Given the description of an element on the screen output the (x, y) to click on. 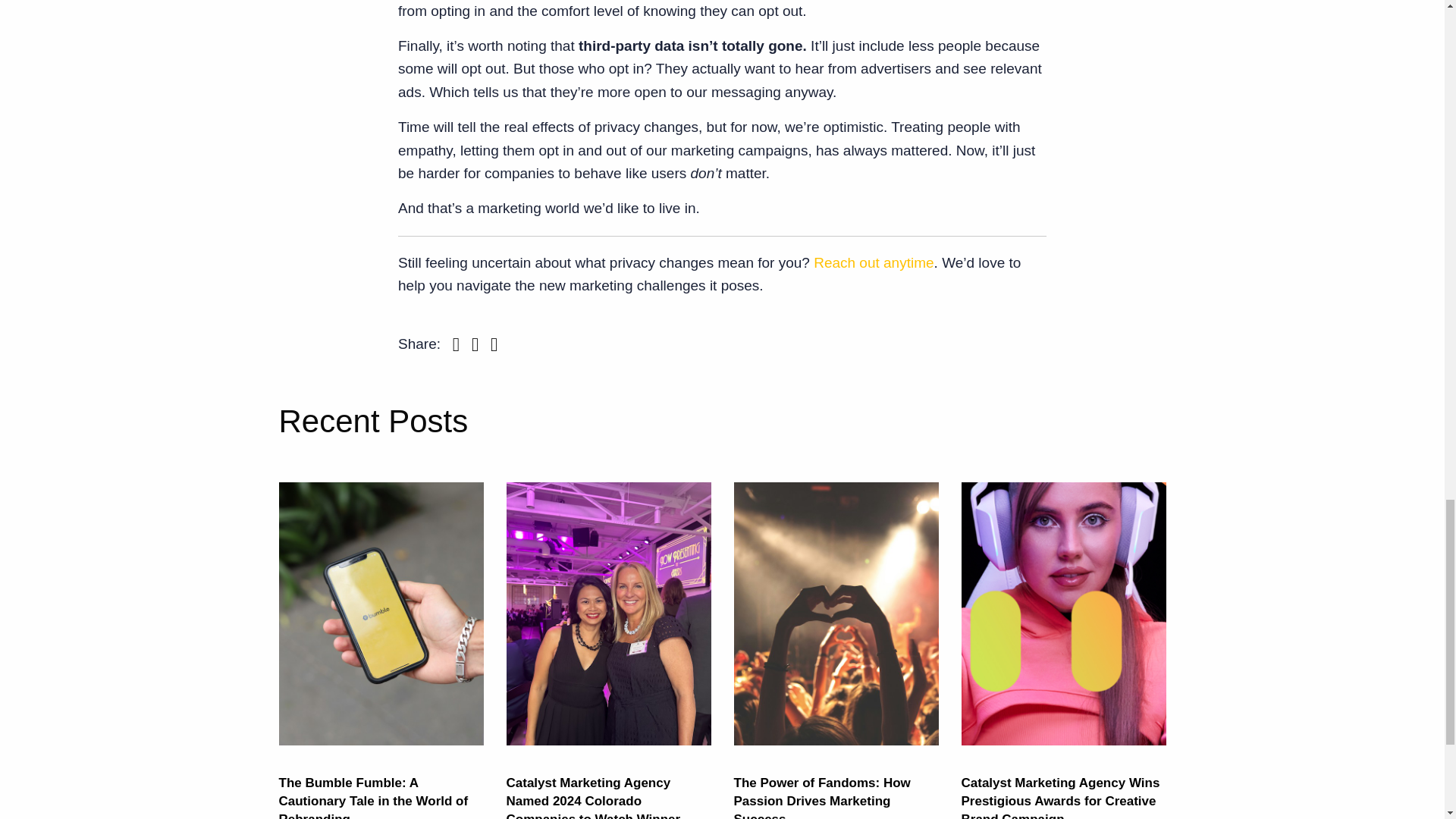
Reach out anytime (873, 262)
The Power of Fandoms: How Passion Drives Marketing Success (822, 797)
